Given the description of an element on the screen output the (x, y) to click on. 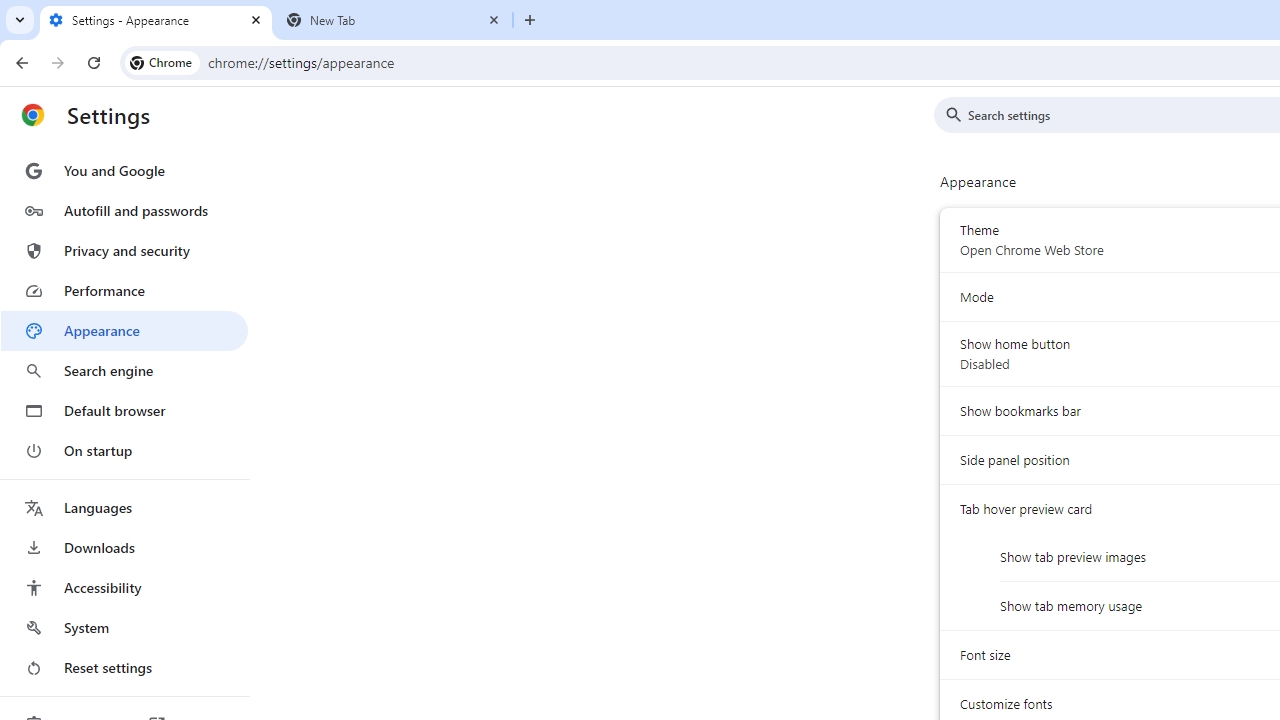
On startup (124, 450)
Accessibility (124, 587)
Downloads (124, 547)
Default browser (124, 410)
Appearance (124, 331)
Performance (124, 290)
New Tab (394, 20)
Reset settings (124, 668)
Privacy and security (124, 250)
